Given the description of an element on the screen output the (x, y) to click on. 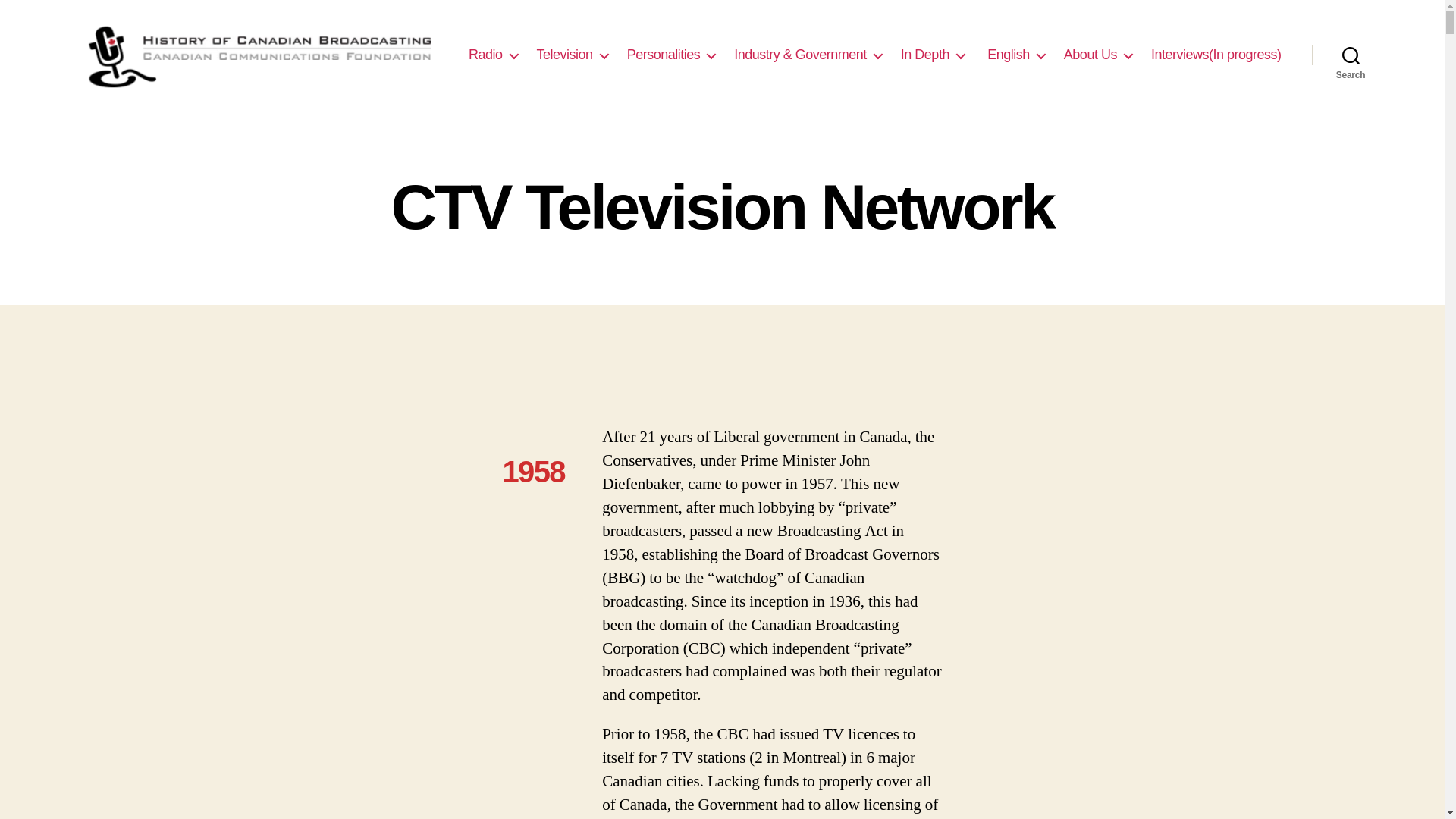
In Depth (932, 54)
Radio (493, 54)
Personalities (671, 54)
About Us (1098, 54)
Television (572, 54)
English (1014, 54)
